Given the description of an element on the screen output the (x, y) to click on. 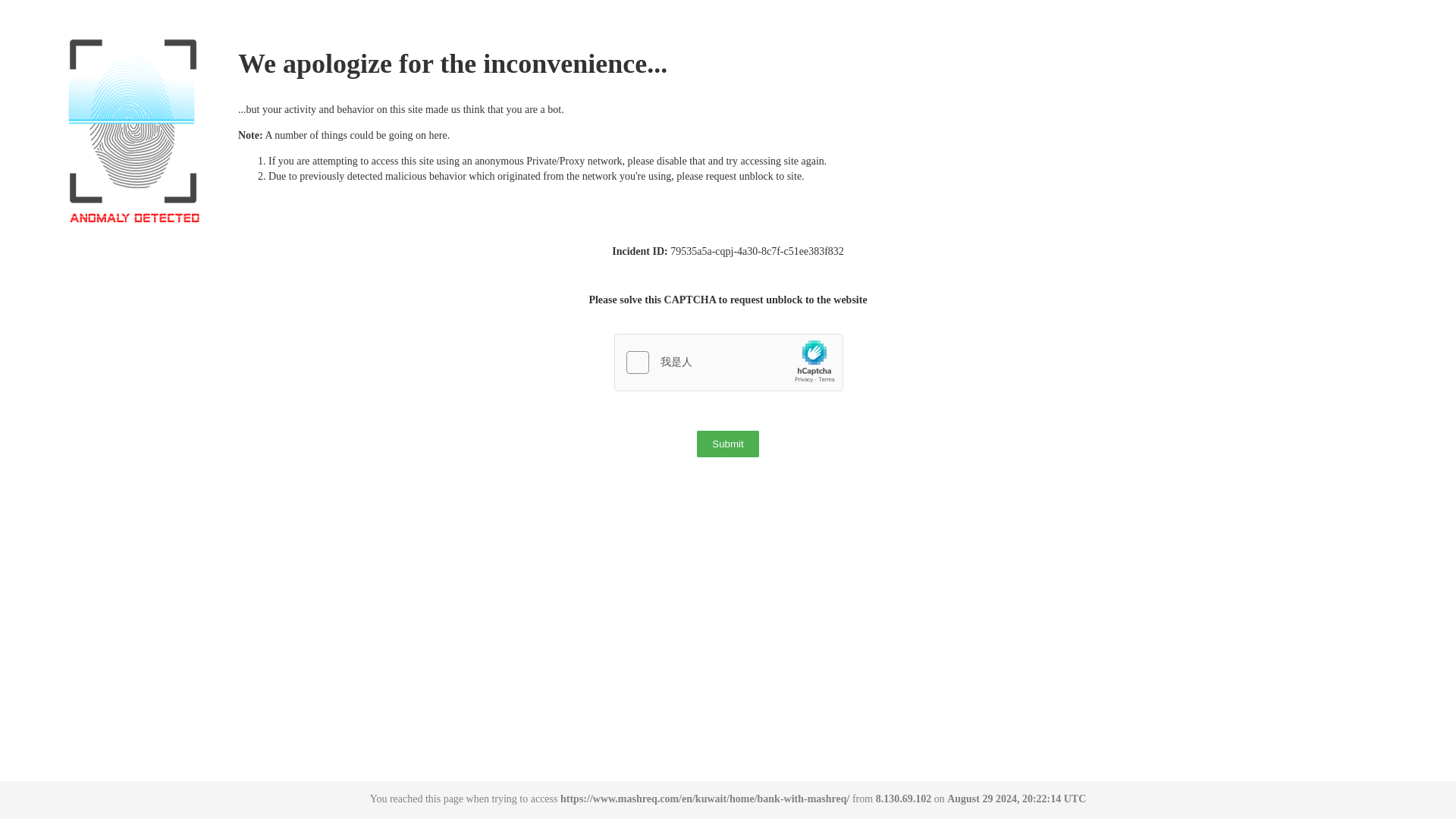
Submit (727, 443)
Widget containing checkbox for hCaptcha security challenge (729, 363)
Submit (727, 443)
